Given the description of an element on the screen output the (x, y) to click on. 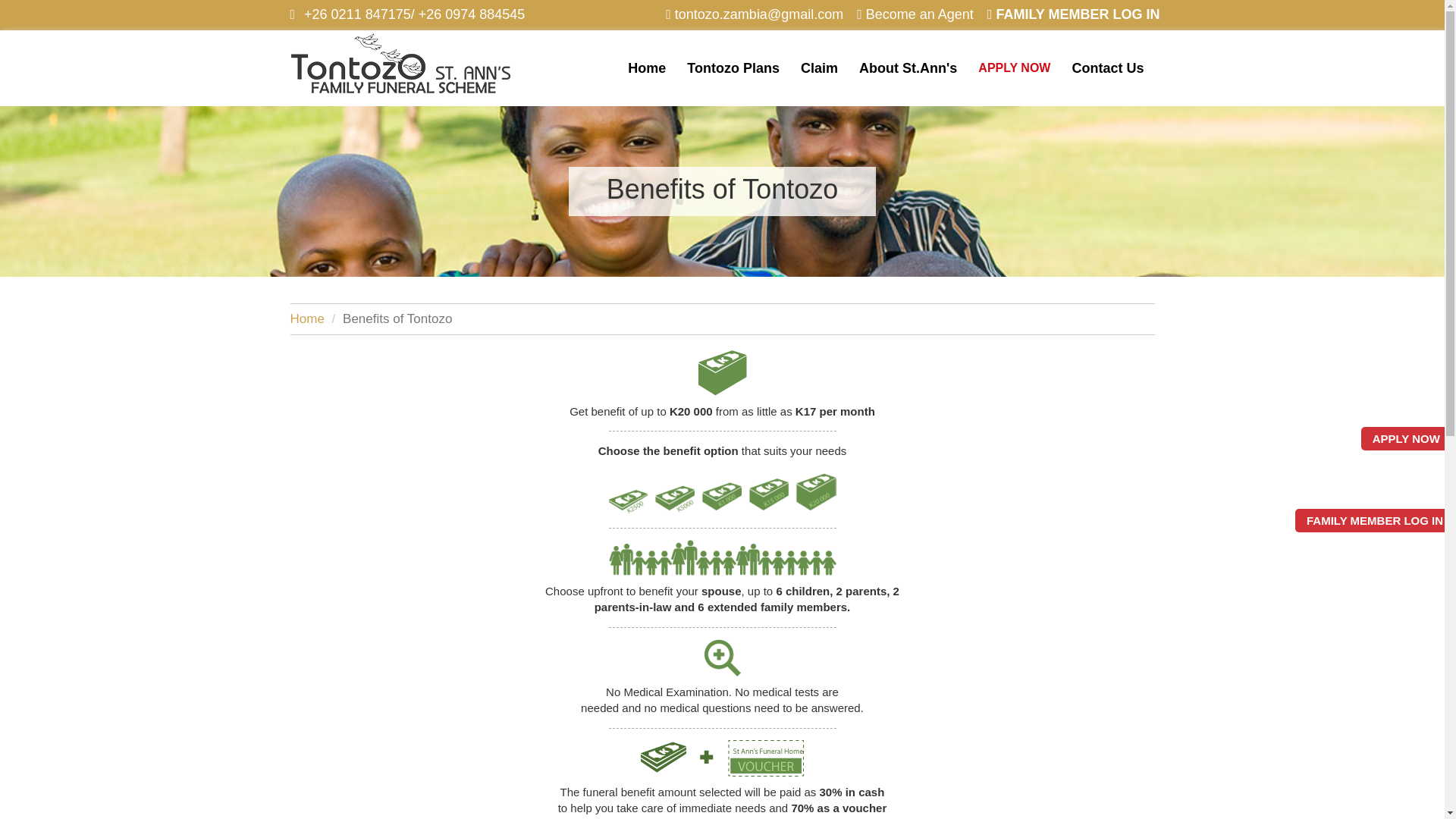
 Become an Agent (914, 14)
Contact Us (1107, 68)
 FAMILY MEMBER LOG IN (1073, 14)
About St.Ann's (908, 68)
APPLY NOW (1014, 68)
Tontozo Plans (733, 68)
Home (306, 318)
